Given the description of an element on the screen output the (x, y) to click on. 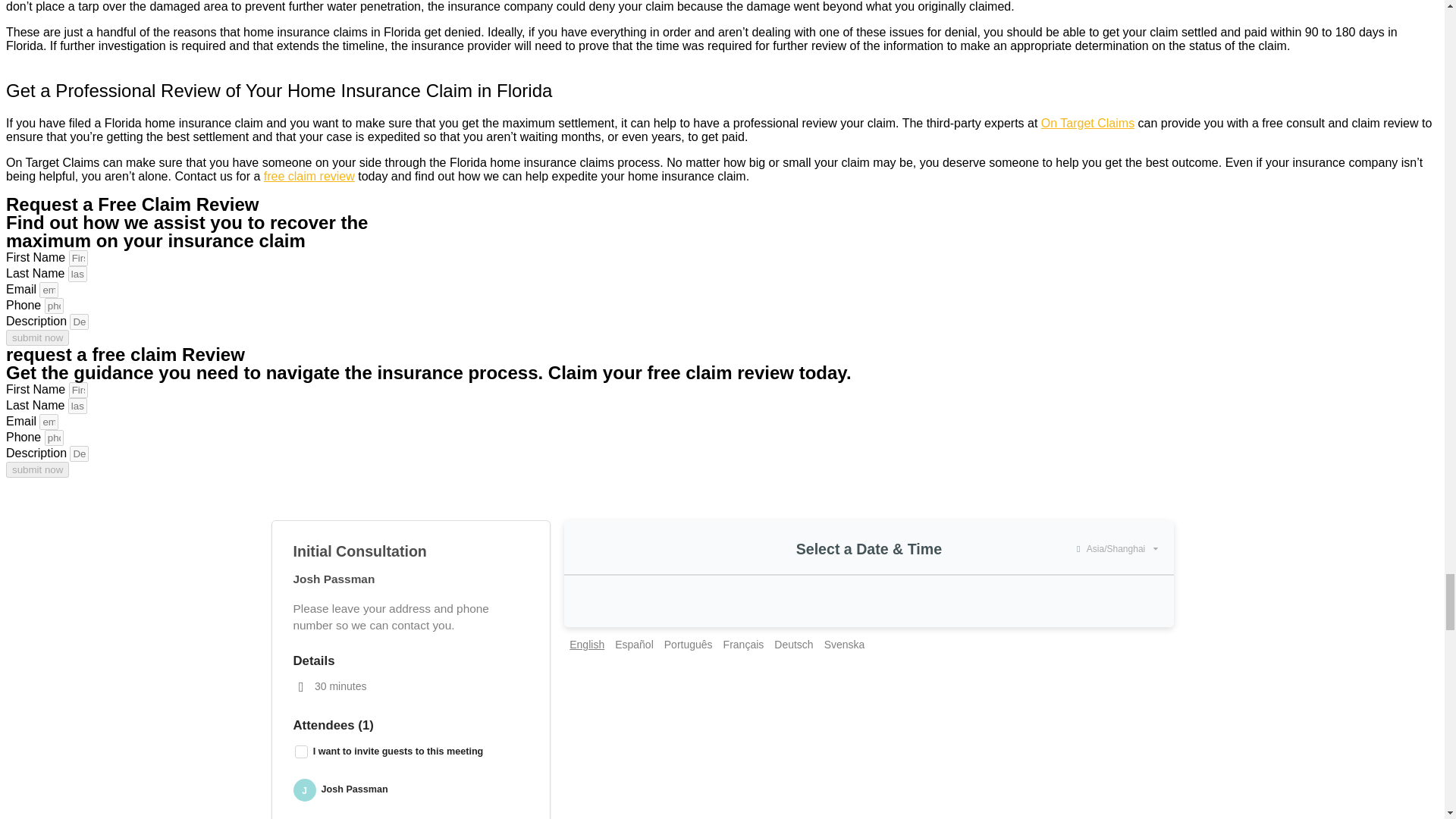
On Target Claims (1087, 123)
